Given the description of an element on the screen output the (x, y) to click on. 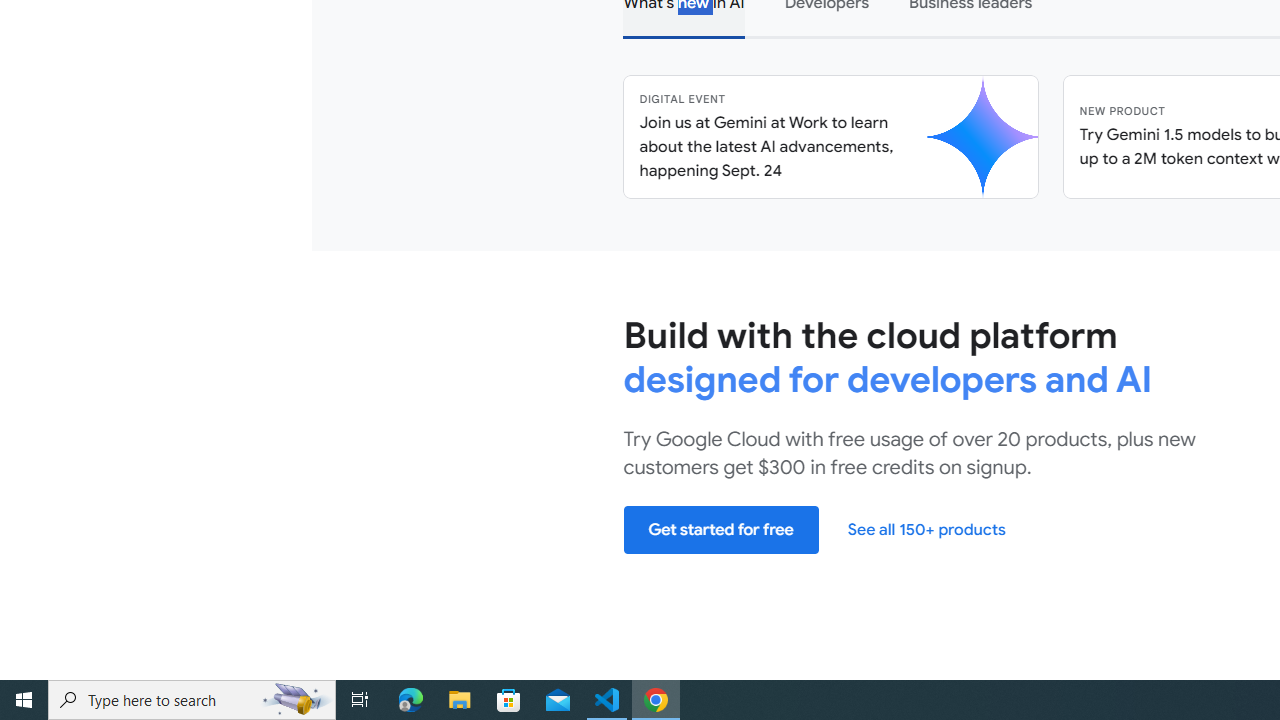
Get started for free (721, 528)
See all 150+ products (926, 528)
